Given the description of an element on the screen output the (x, y) to click on. 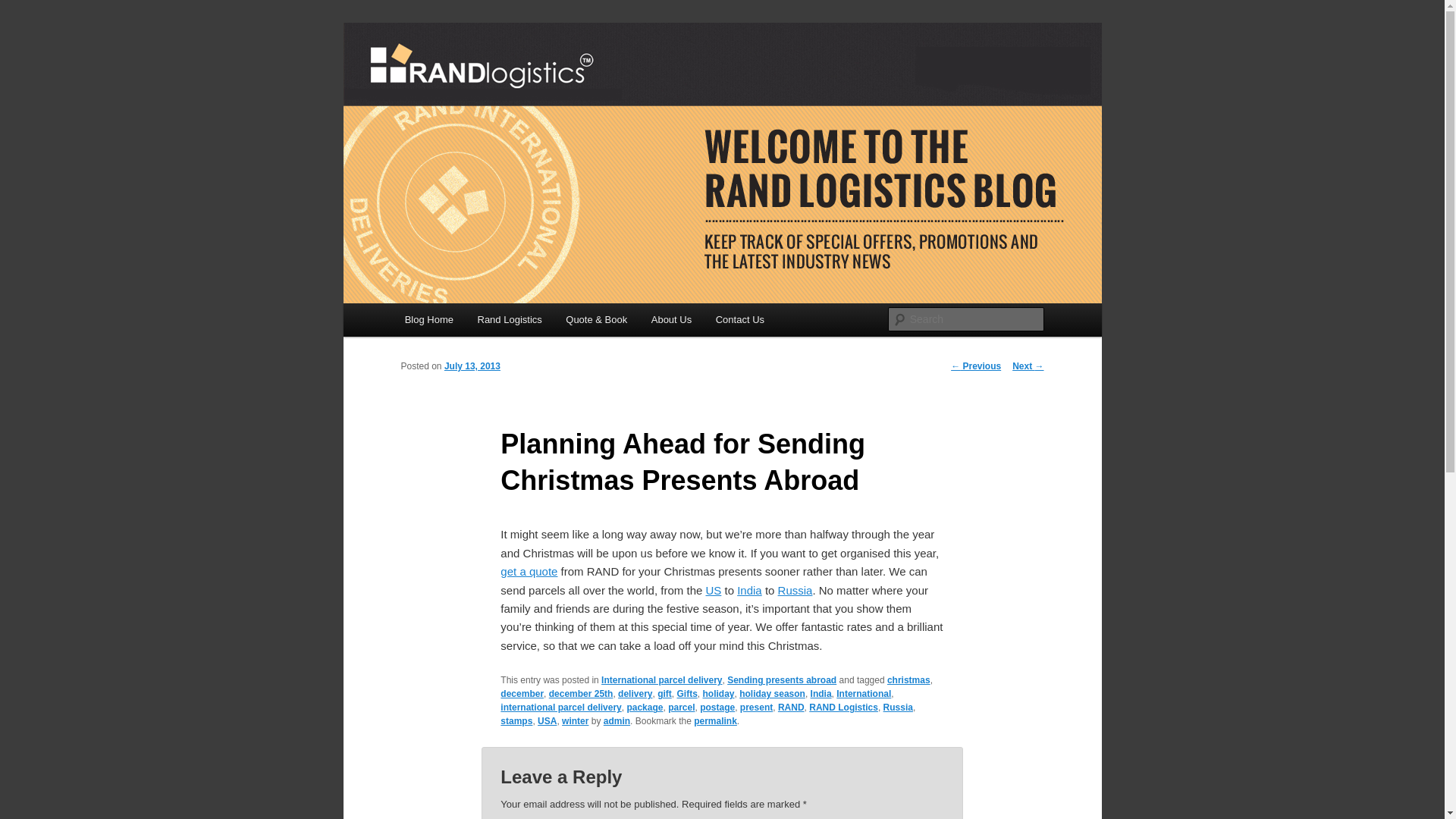
december (521, 693)
package (644, 706)
christmas (908, 679)
Search (24, 8)
US (712, 590)
delivery (634, 693)
International (863, 693)
International parcel delivery (661, 679)
Blog Home (429, 319)
July 13, 2013 (472, 366)
